Given the description of an element on the screen output the (x, y) to click on. 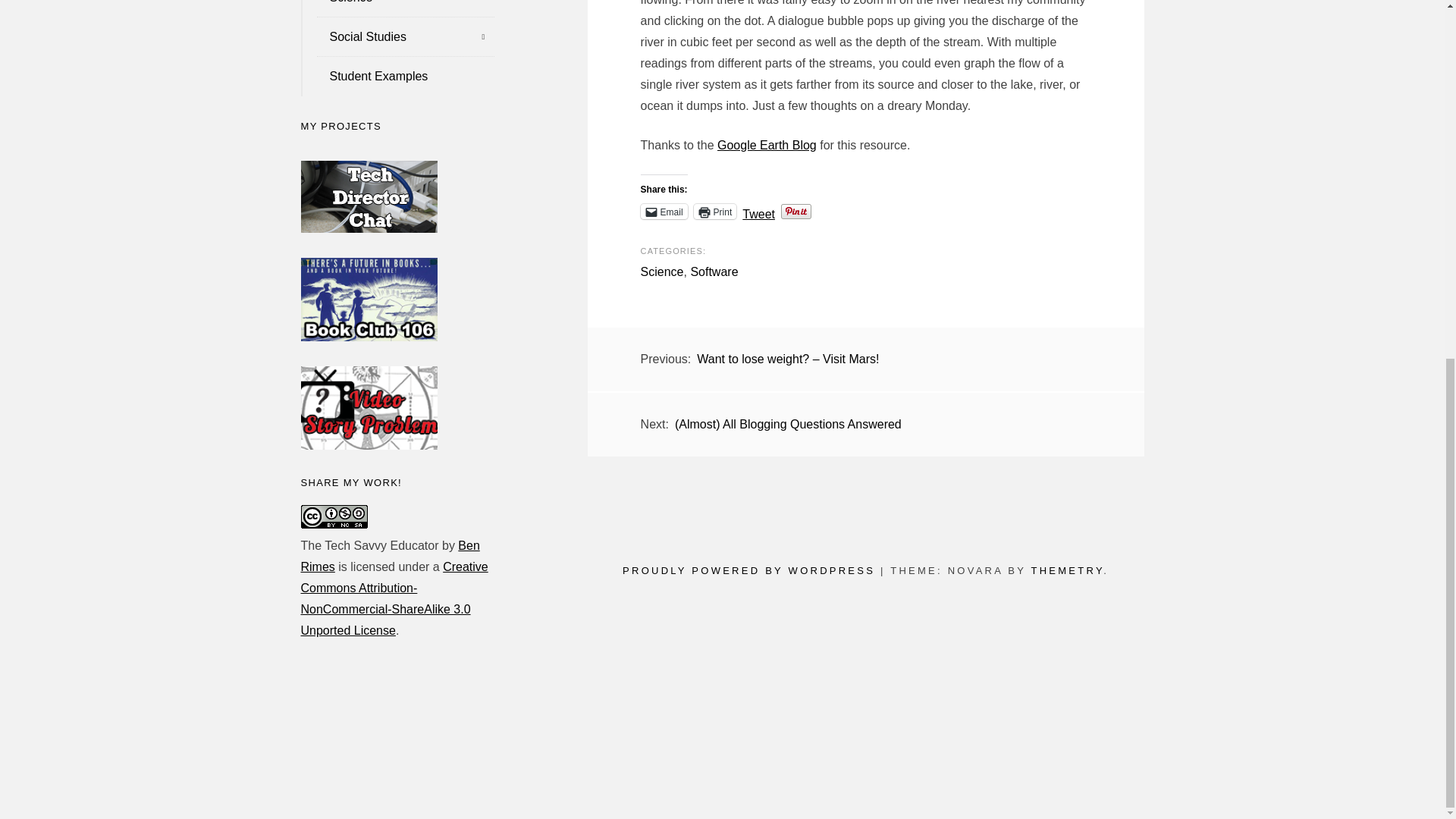
Click to email a link to a friend (663, 211)
Click to print (715, 211)
Social Studies (397, 36)
Science (397, 8)
Ben Rimes (389, 555)
Student Examples (397, 76)
